Given the description of an element on the screen output the (x, y) to click on. 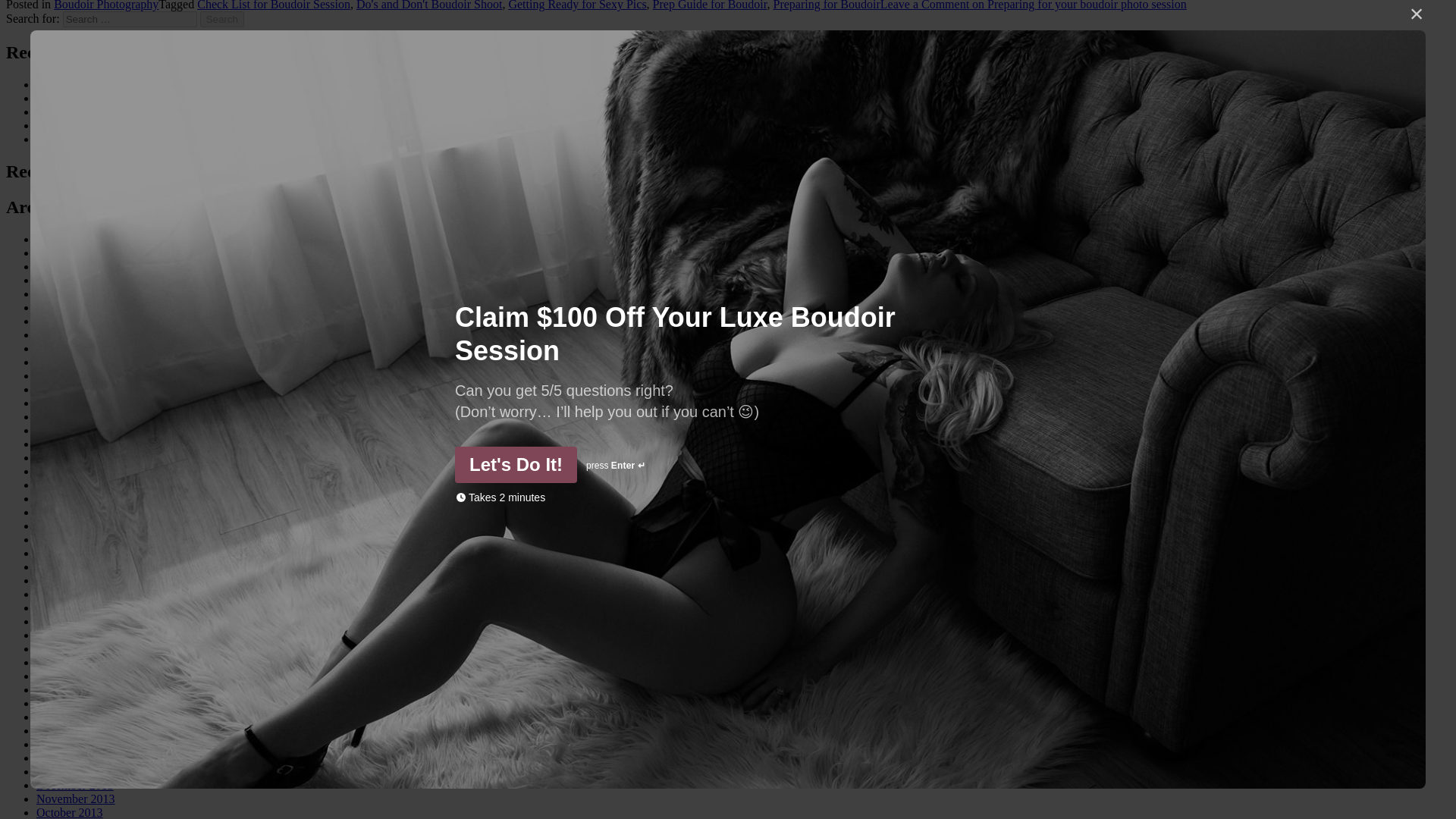
Search (222, 19)
